Given the description of an element on the screen output the (x, y) to click on. 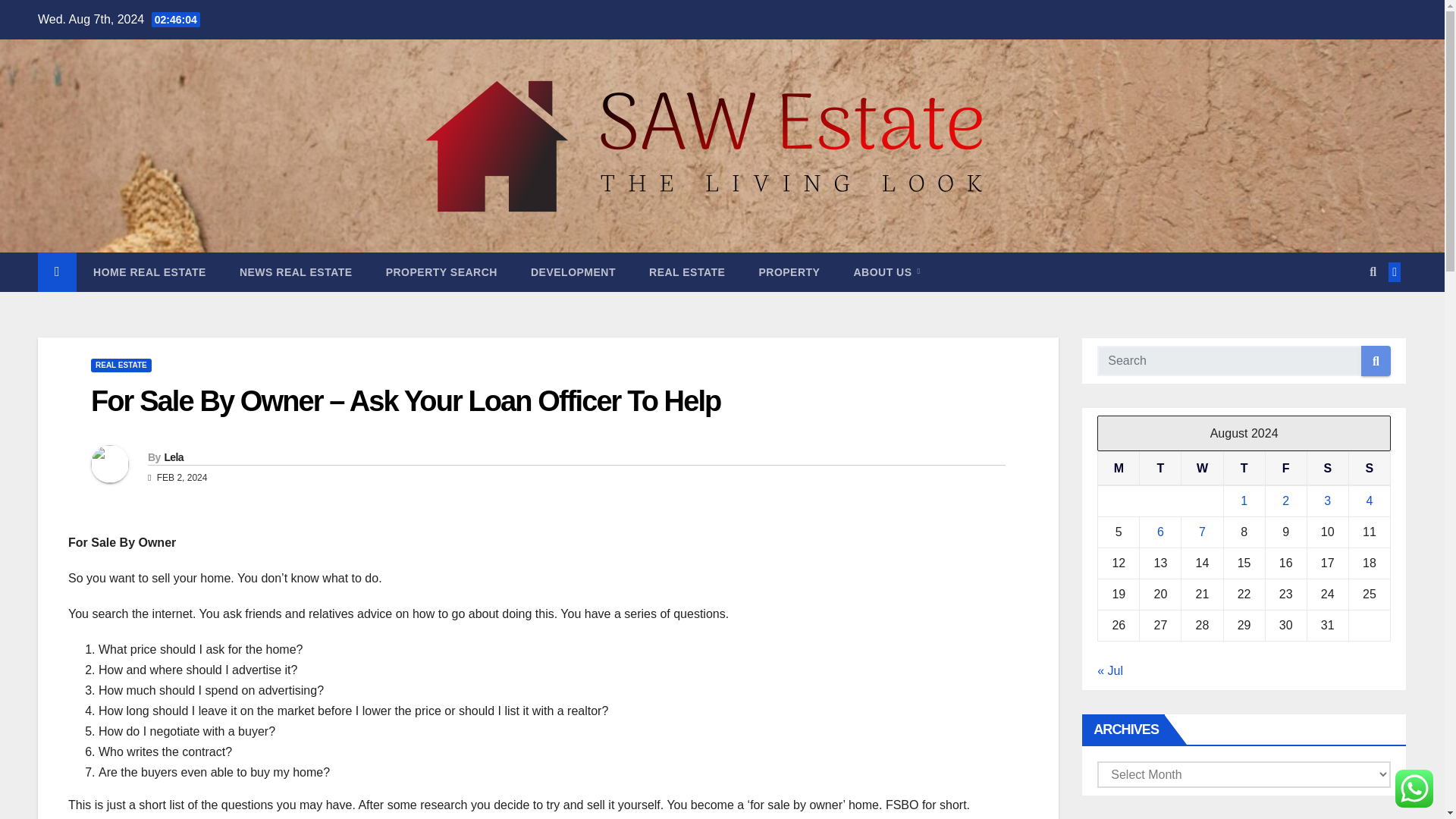
Property Search (441, 271)
DEVELOPMENT (572, 271)
Property (788, 271)
About Us (885, 271)
Home Real Estate (149, 271)
PROPERTY SEARCH (441, 271)
Real Estate (686, 271)
Lela (173, 457)
News Real Estate (295, 271)
HOME REAL ESTATE (149, 271)
NEWS REAL ESTATE (295, 271)
PROPERTY (788, 271)
ABOUT US (885, 271)
REAL ESTATE (120, 365)
REAL ESTATE (686, 271)
